Given the description of an element on the screen output the (x, y) to click on. 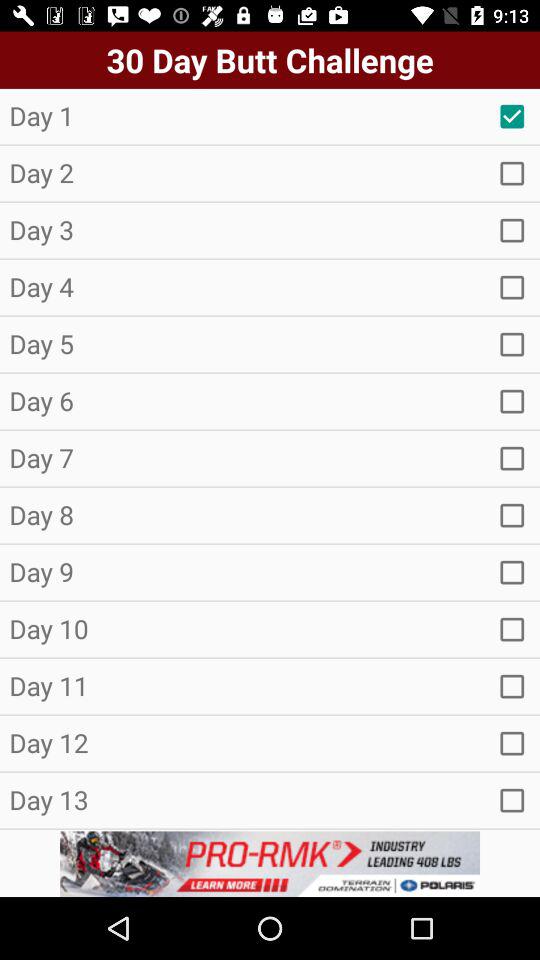
select day 5 (512, 344)
